Given the description of an element on the screen output the (x, y) to click on. 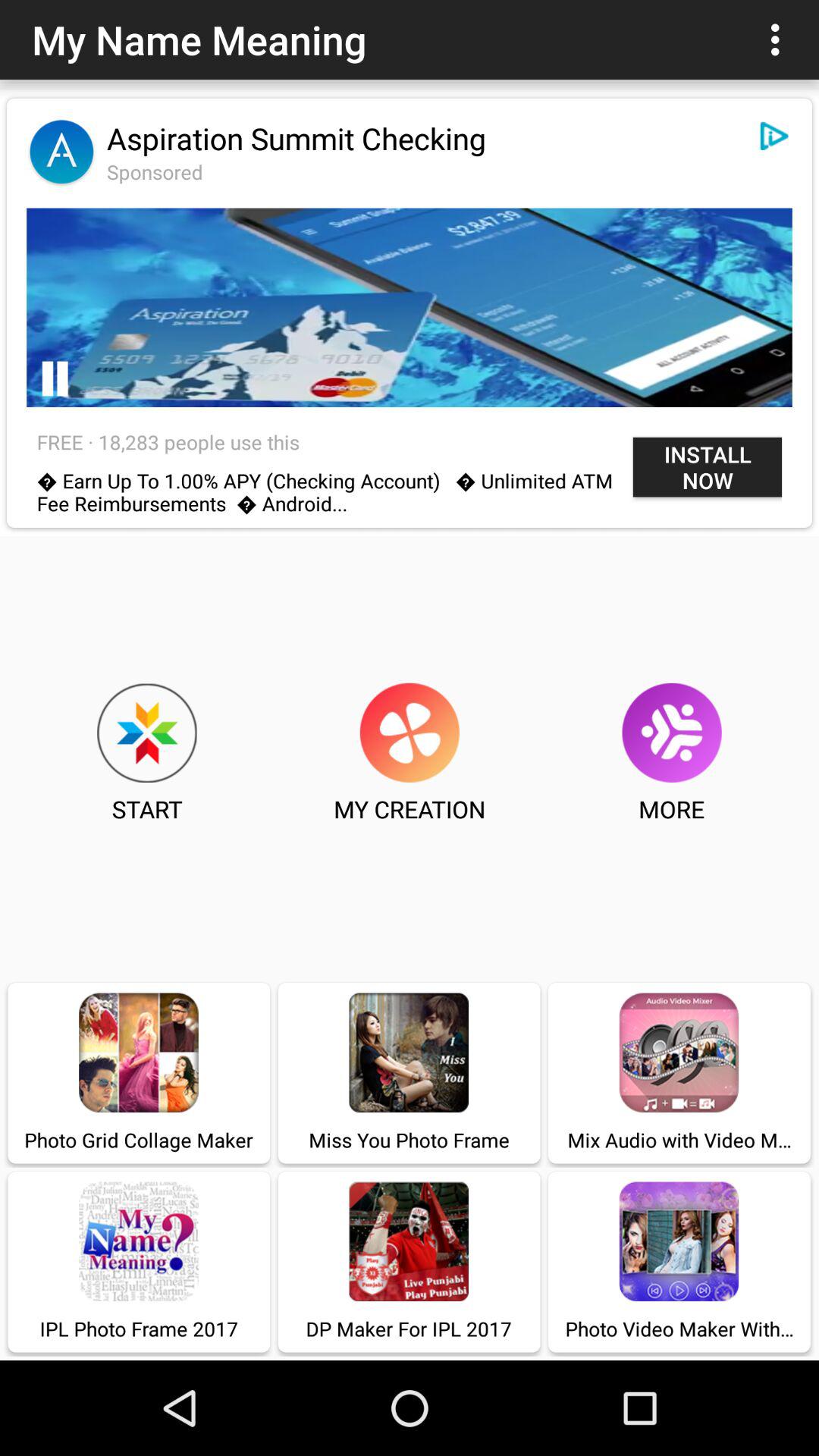
pause the video (54, 378)
